Given the description of an element on the screen output the (x, y) to click on. 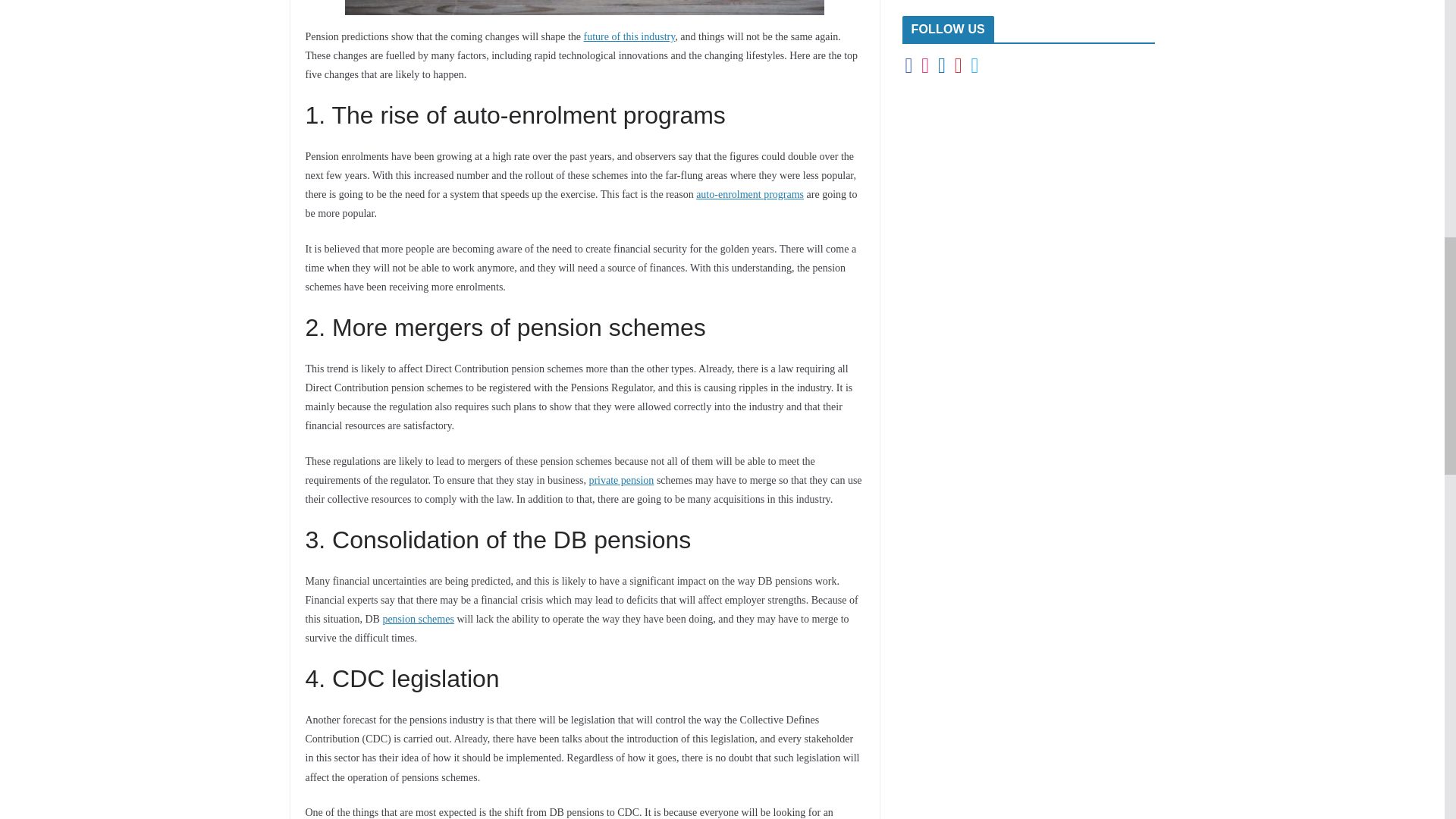
future of this industry (629, 36)
pension schemes (416, 618)
auto-enrolment programs (749, 194)
private pension (620, 480)
